Given the description of an element on the screen output the (x, y) to click on. 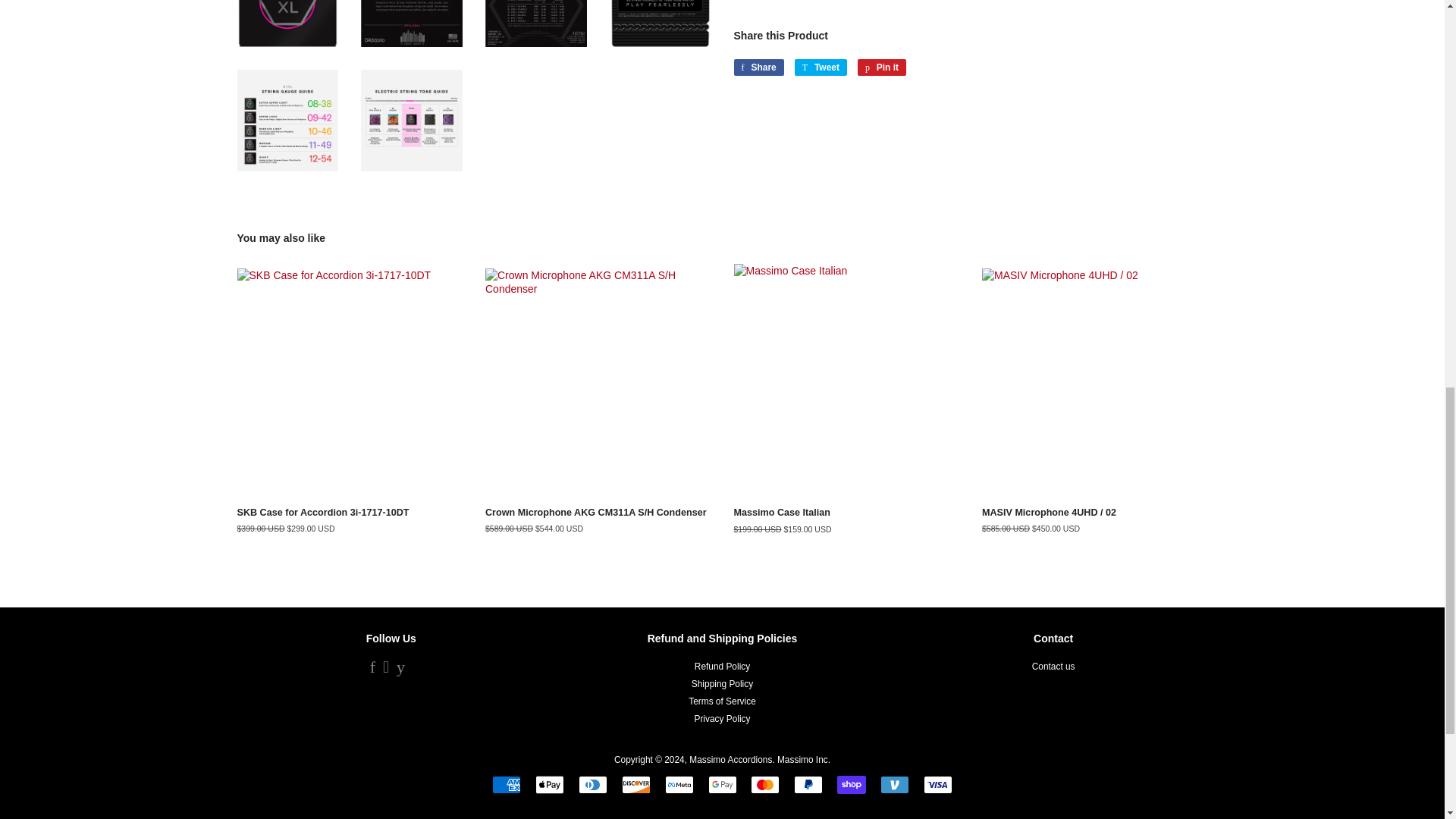
American Express (506, 784)
Pin on Pinterest (881, 67)
Visa (937, 784)
Mastercard (764, 784)
Google Pay (721, 784)
Shop Pay (851, 784)
Tweet on Twitter (820, 67)
Apple Pay (549, 784)
PayPal (807, 784)
Diners Club (592, 784)
Meta Pay (679, 784)
Share on Facebook (758, 67)
Discover (635, 784)
Venmo (894, 784)
